Given the description of an element on the screen output the (x, y) to click on. 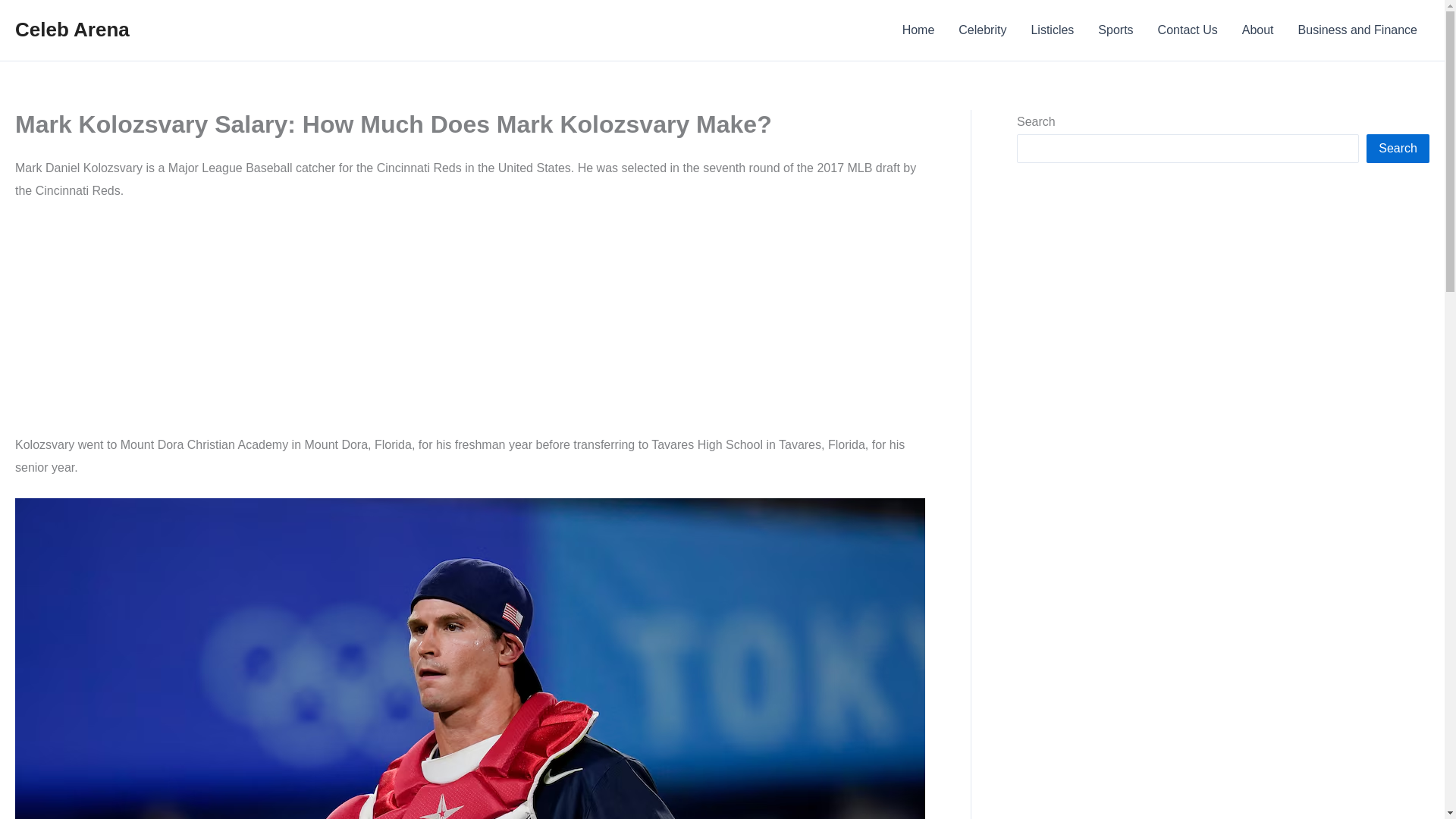
Celebrity (981, 30)
About (1257, 30)
Sports (1115, 30)
Celeb Arena (71, 29)
Listicles (1051, 30)
Contact Us (1187, 30)
Home (918, 30)
Business and Finance (1357, 30)
